Given the description of an element on the screen output the (x, y) to click on. 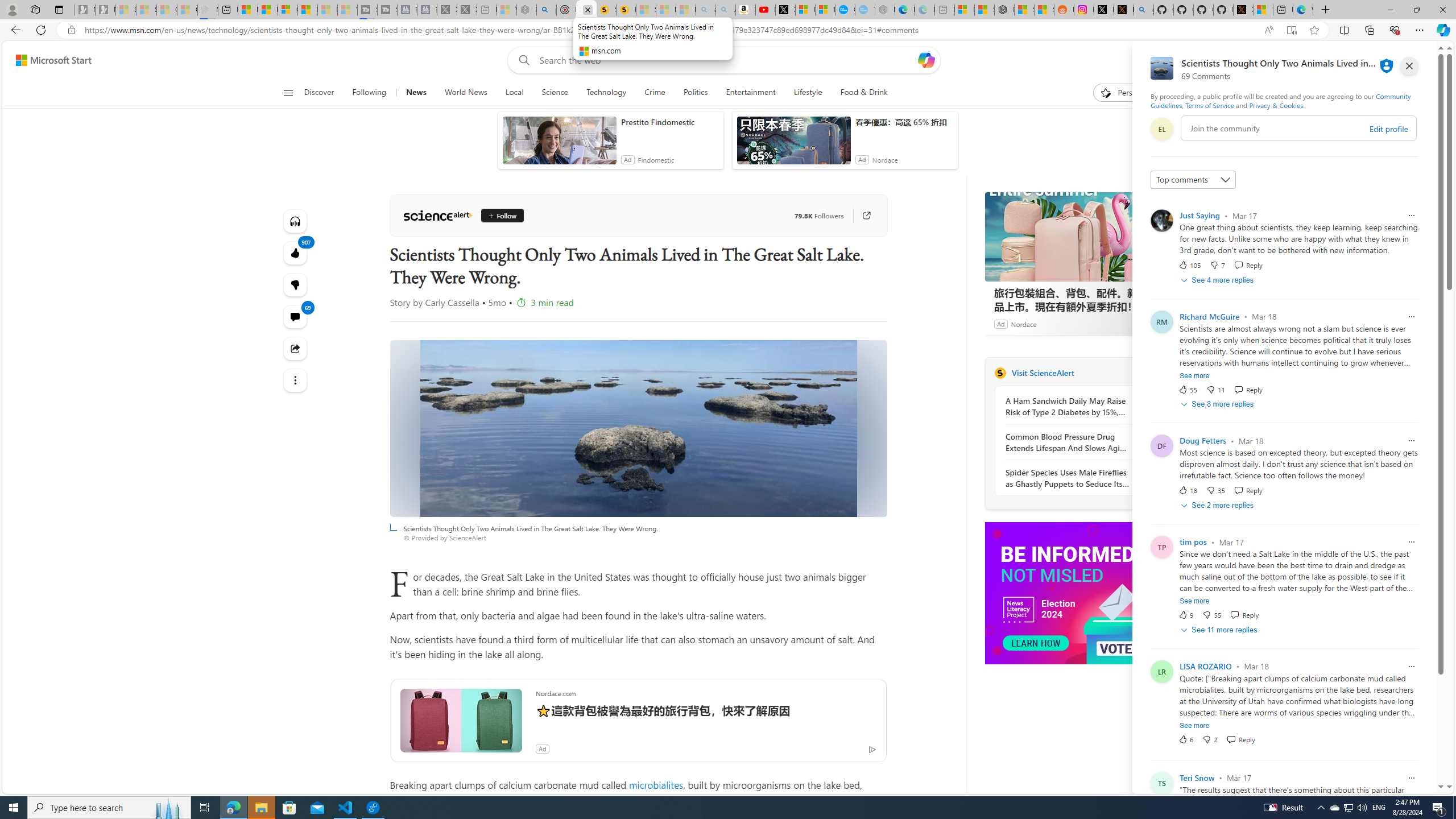
comment-box (1298, 127)
ScienceAlert (437, 215)
Lifestyle (807, 92)
amazon - Search - Sleeping (705, 9)
To get missing image descriptions, open the context menu. (1070, 593)
Overview (287, 9)
World News (465, 92)
Technology (605, 92)
Crime (655, 92)
Open Copilot (926, 59)
